Given the description of an element on the screen output the (x, y) to click on. 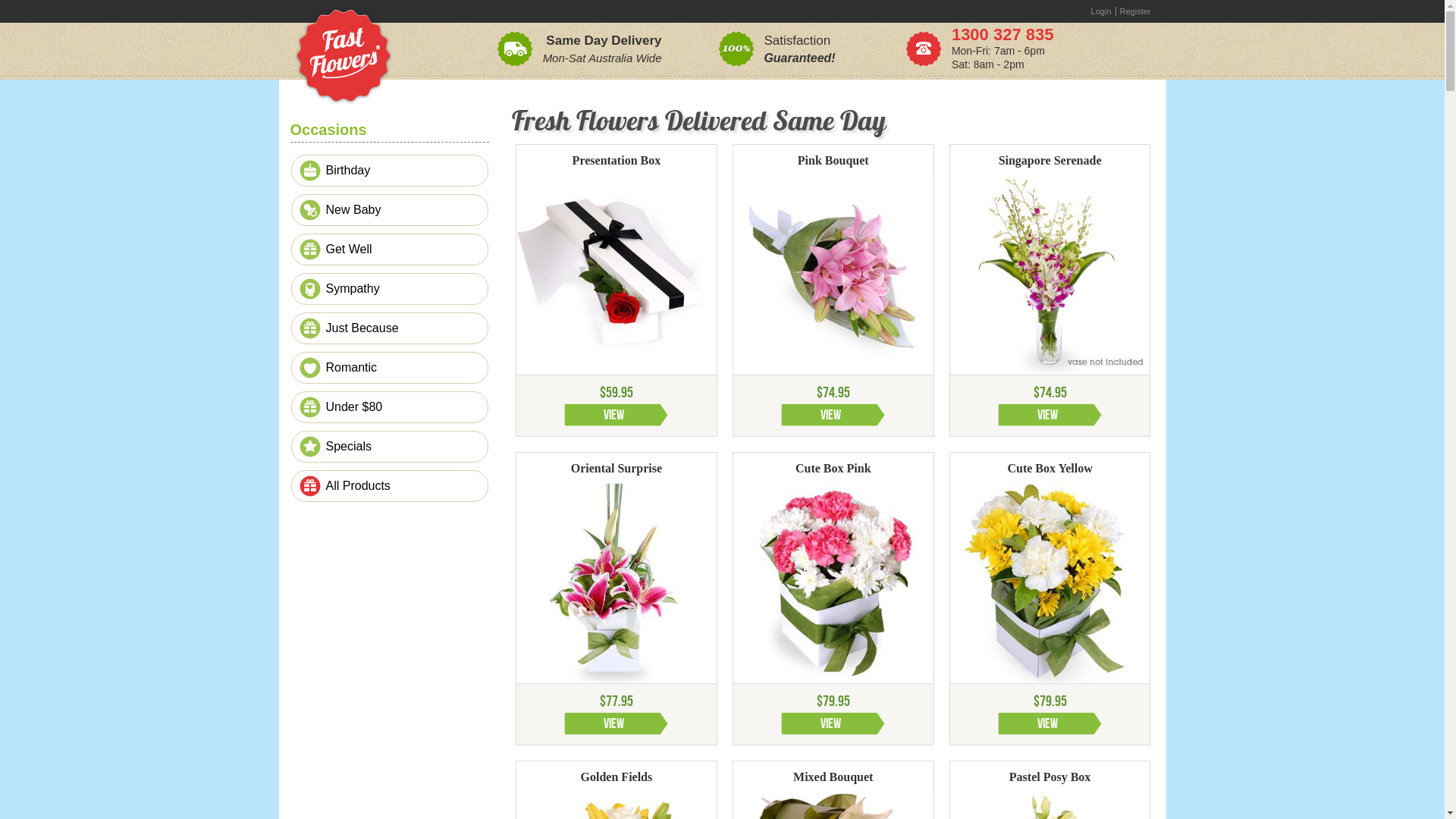
Under $80 Element type: text (392, 407)
Sympathy Element type: text (392, 288)
Cute Box Yellow Flowers Element type: hover (1050, 583)
Cute Box Pink Flowers Element type: hover (833, 583)
Register Element type: text (1135, 10)
Cute Box Pink
$79.95
View Element type: text (833, 598)
Singapore Serenade
$74.95
View Element type: text (1050, 290)
Just Because Element type: text (392, 328)
Presentation Box
$59.95
View Element type: text (616, 290)
Pink Bouquet Flowers Element type: hover (833, 275)
Pink Bouquet
$74.95
View Element type: text (833, 290)
Specials Element type: text (392, 446)
Singapore Serenade Flowers Element type: hover (1050, 275)
Birthday Element type: text (392, 170)
Presentation Box Flowers Element type: hover (616, 275)
Oriental Surprise Flowers Element type: hover (616, 583)
Login Element type: text (1101, 10)
Cute Box Yellow
$79.95
View Element type: text (1050, 598)
New Baby Element type: text (392, 209)
Romantic Element type: text (392, 367)
Get Well Element type: text (392, 249)
Oriental Surprise
$77.95
View Element type: text (616, 598)
All Products Element type: text (392, 485)
